Given the description of an element on the screen output the (x, y) to click on. 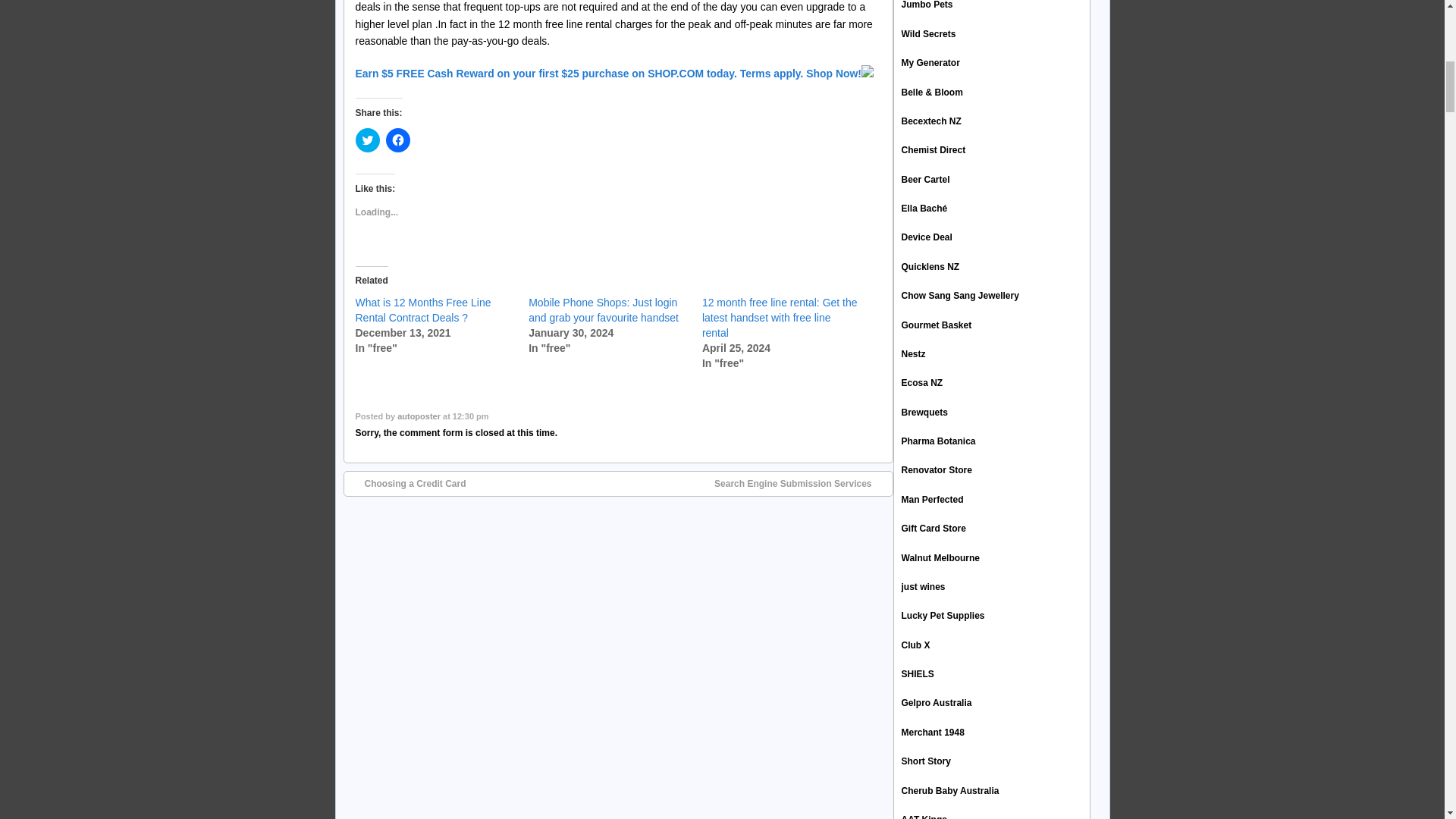
  Choosing a Credit Card (407, 483)
What is 12 Months Free Line Rental Contract Deals ? (422, 309)
Click to share on Facebook (397, 139)
Click to share on Twitter (366, 139)
What is 12 Months Free Line Rental Contract Deals ? (422, 309)
autoposter (419, 415)
  Search Engine Submission Services (800, 483)
